Given the description of an element on the screen output the (x, y) to click on. 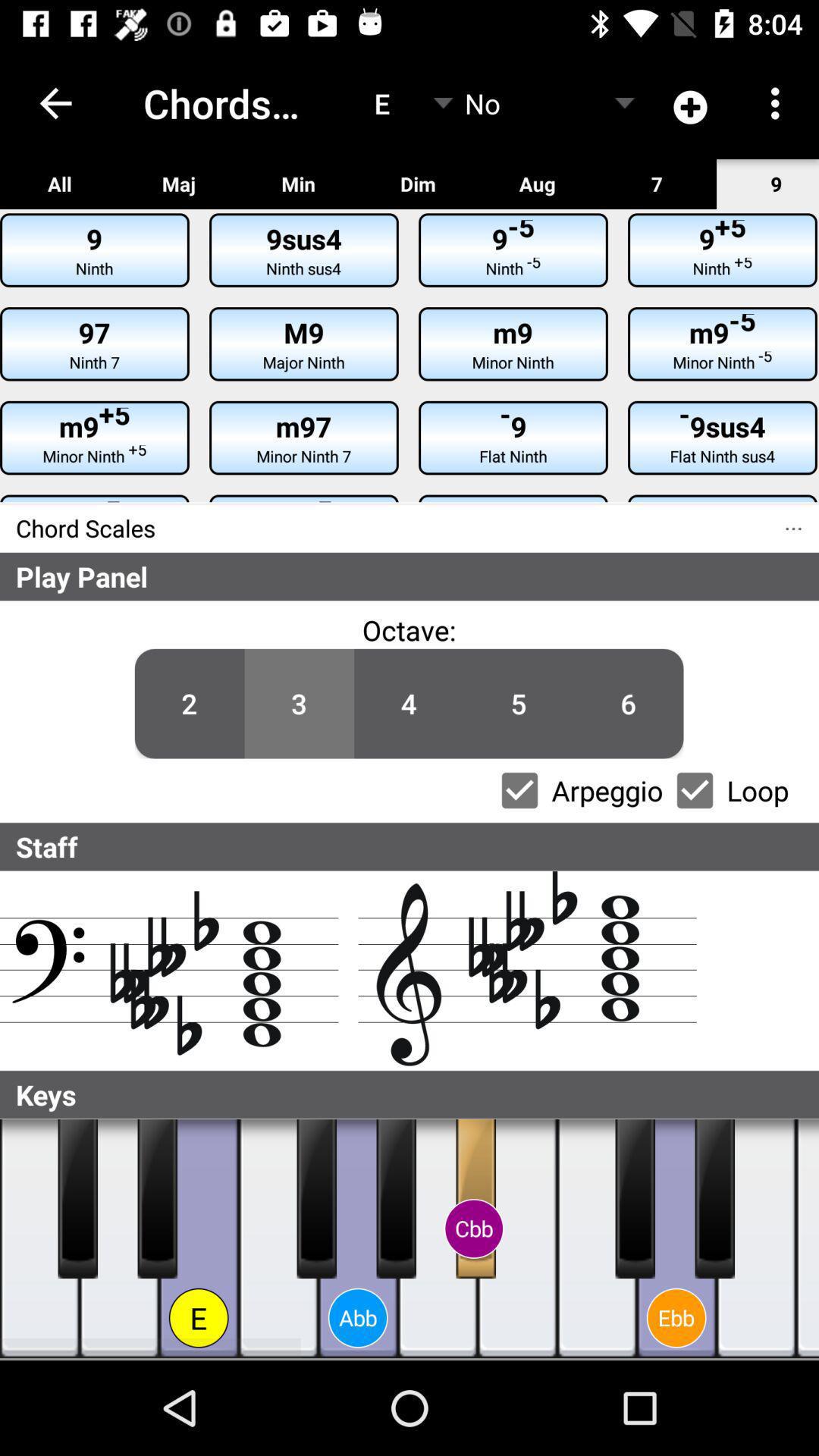
play selected note (756, 1238)
